Given the description of an element on the screen output the (x, y) to click on. 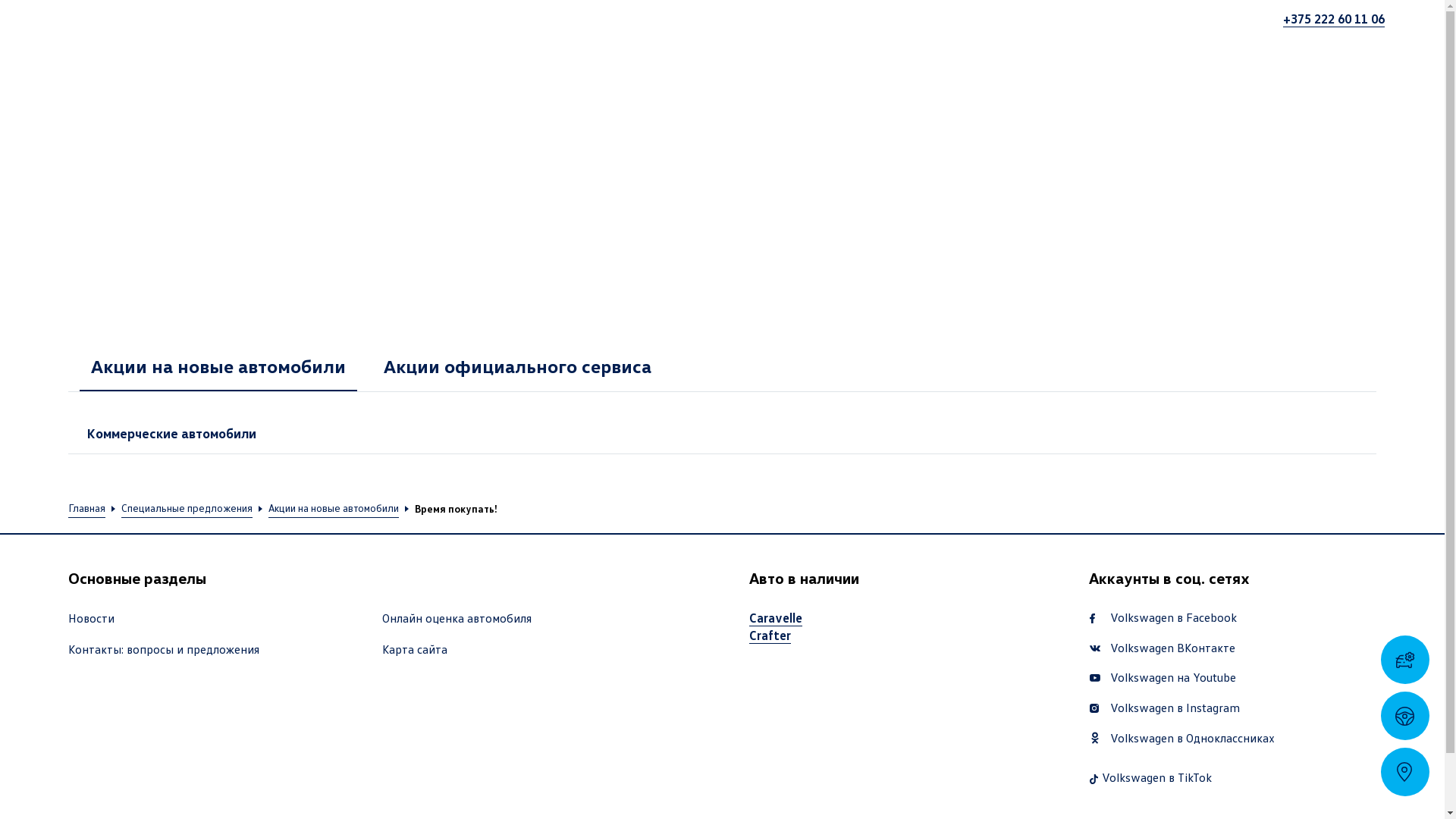
Caravelle Element type: text (775, 617)
+375 222 60 11 06 Element type: text (1333, 18)
Crafter Element type: text (769, 635)
